Given the description of an element on the screen output the (x, y) to click on. 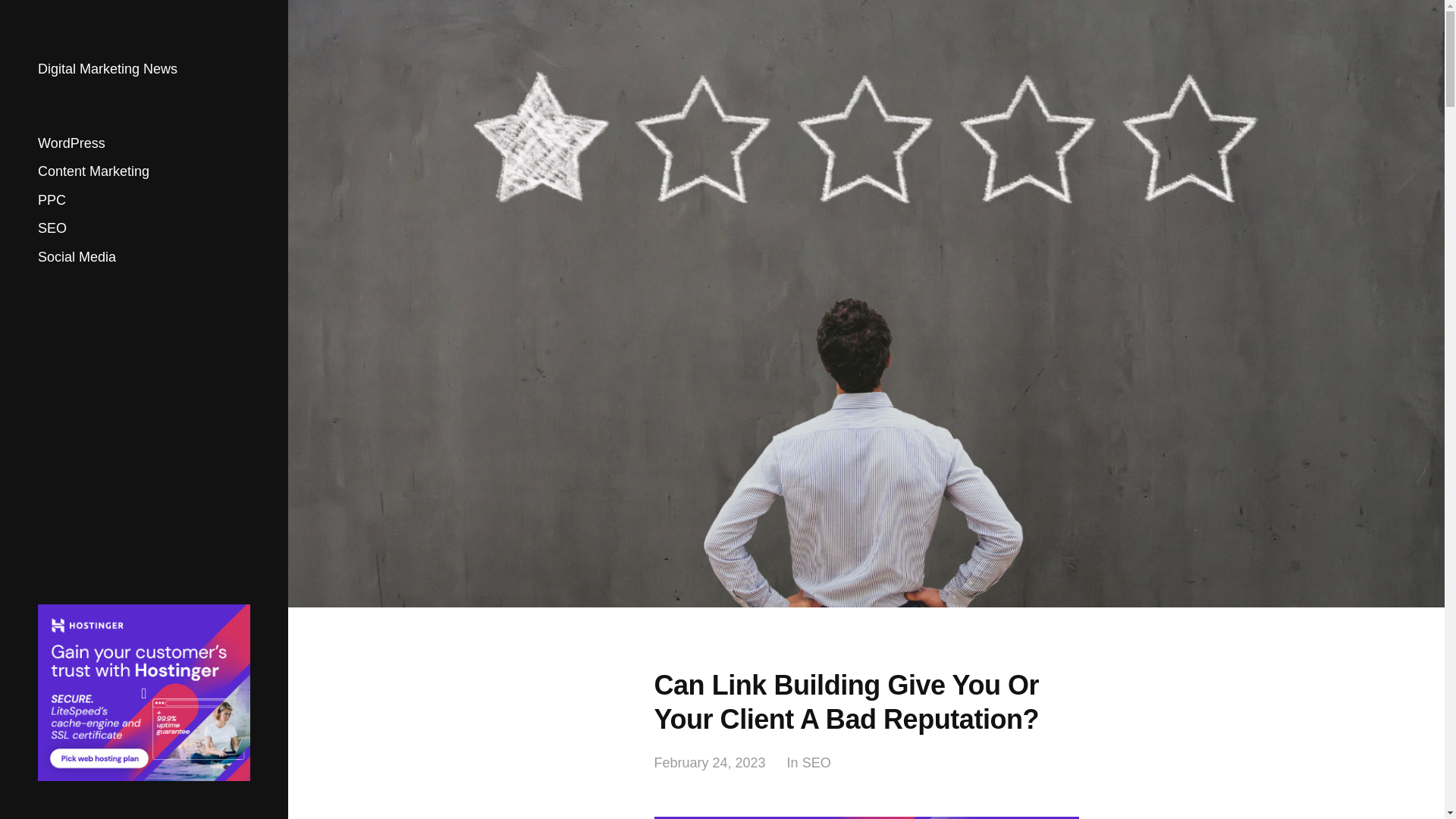
February 24, 2023 (709, 763)
Social Media (76, 256)
SEO (816, 763)
Content Marketing (93, 171)
WordPress (70, 142)
PPC (51, 200)
Digital Marketing News (107, 68)
SEO (51, 228)
